Given the description of an element on the screen output the (x, y) to click on. 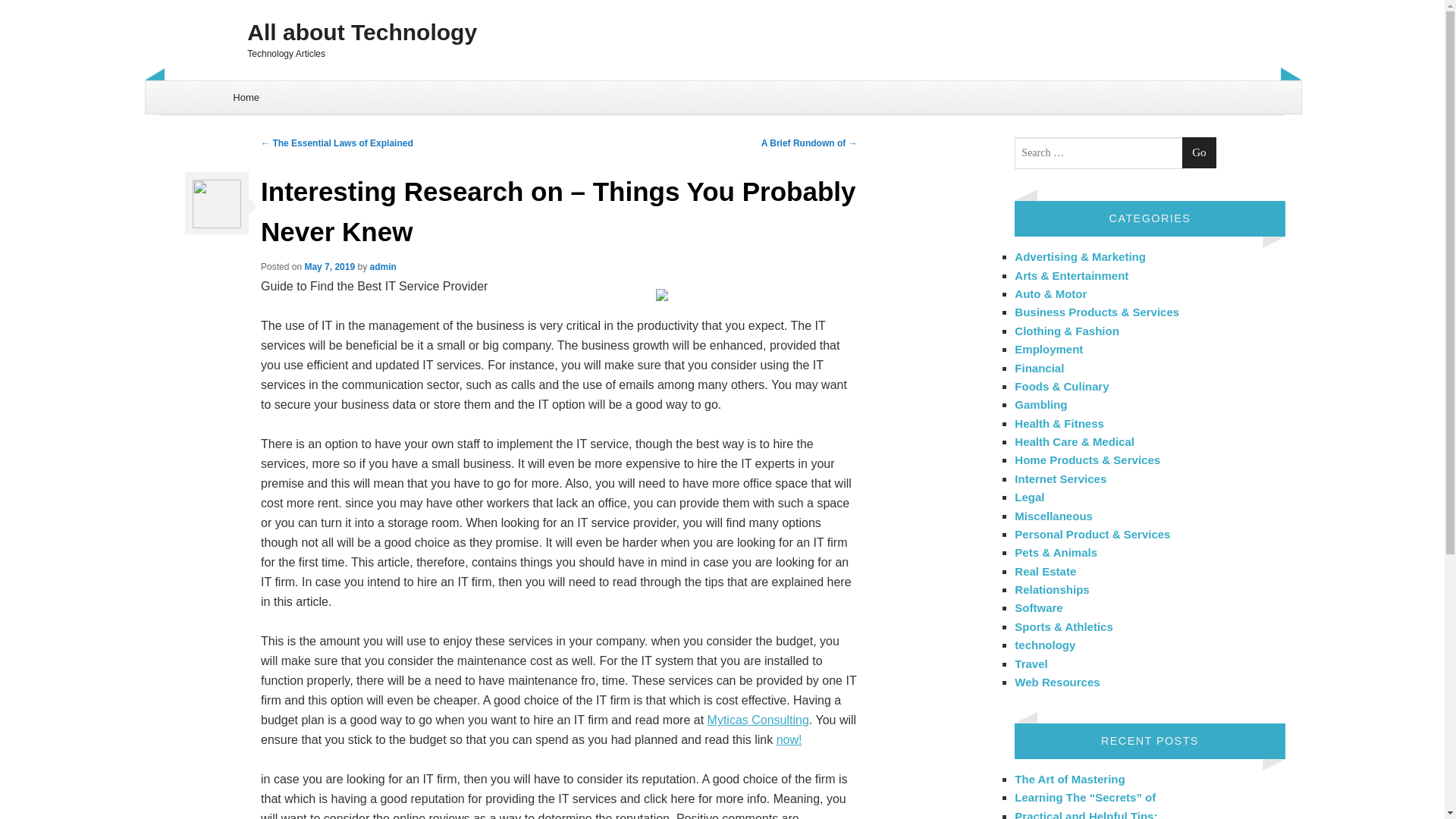
technology (1044, 644)
Financial (1039, 367)
Go (1198, 152)
May 7, 2019 (329, 266)
Myticas Consulting (758, 719)
Employment (1048, 349)
Skip to content (183, 89)
Travel (1030, 662)
View all posts by admin (382, 266)
Legal (1028, 496)
